Given the description of an element on the screen output the (x, y) to click on. 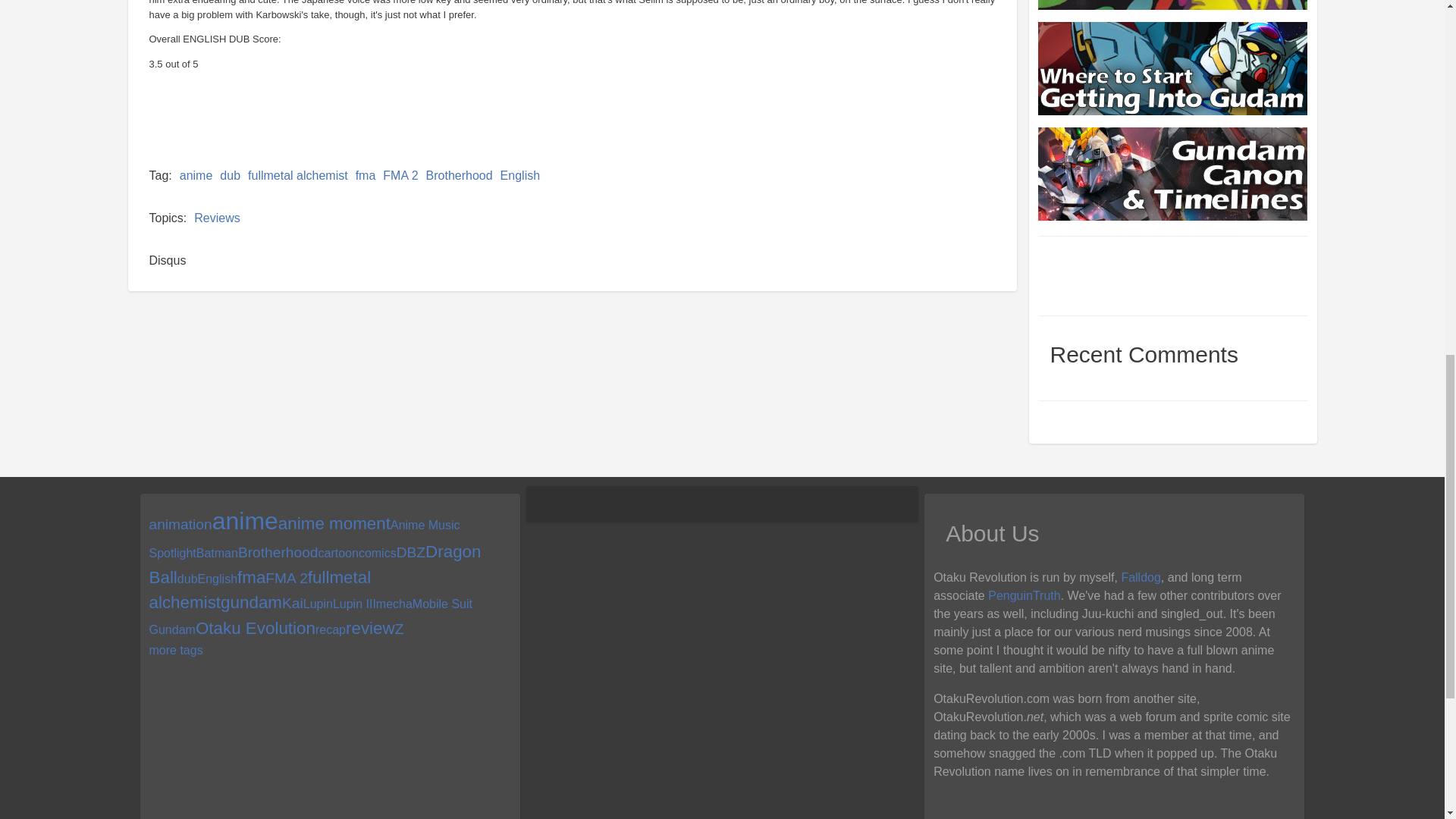
comics (377, 553)
English (217, 578)
English (520, 174)
dub (229, 174)
fma (250, 577)
gundam (251, 601)
Dragon Ball (314, 564)
fullmetal alchemist (297, 174)
fma (365, 174)
FMA 2 (399, 174)
cartoon (338, 553)
Batman (217, 553)
animation (179, 524)
FMA 2 (285, 578)
Brotherhood (278, 552)
